Given the description of an element on the screen output the (x, y) to click on. 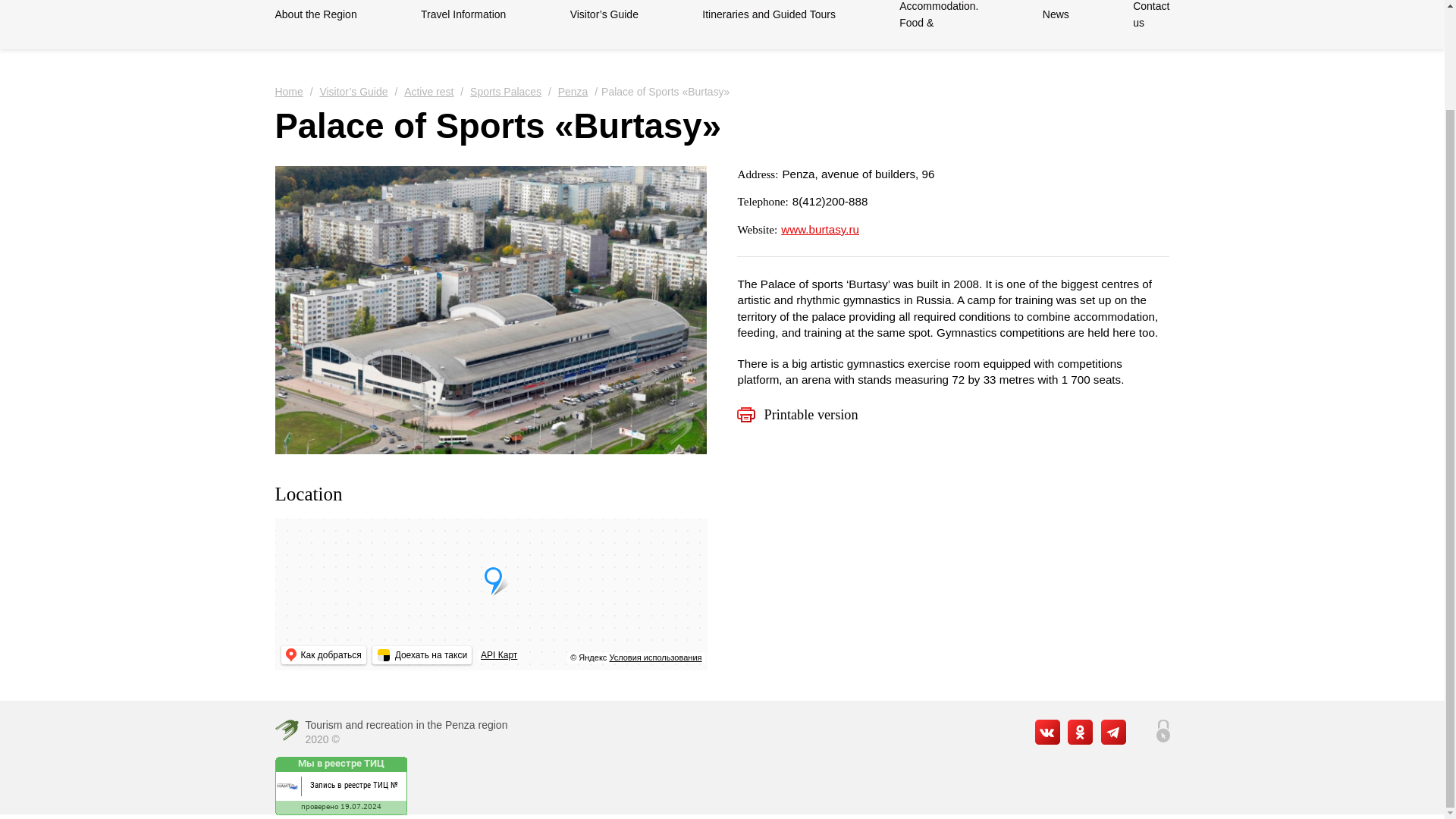
Home (288, 91)
Sports Palaces (503, 91)
Travel Information (462, 14)
Itineraries and Guided Tours (768, 14)
Penza (571, 91)
About the Region (315, 14)
News (1055, 14)
Active rest (426, 91)
